Given the description of an element on the screen output the (x, y) to click on. 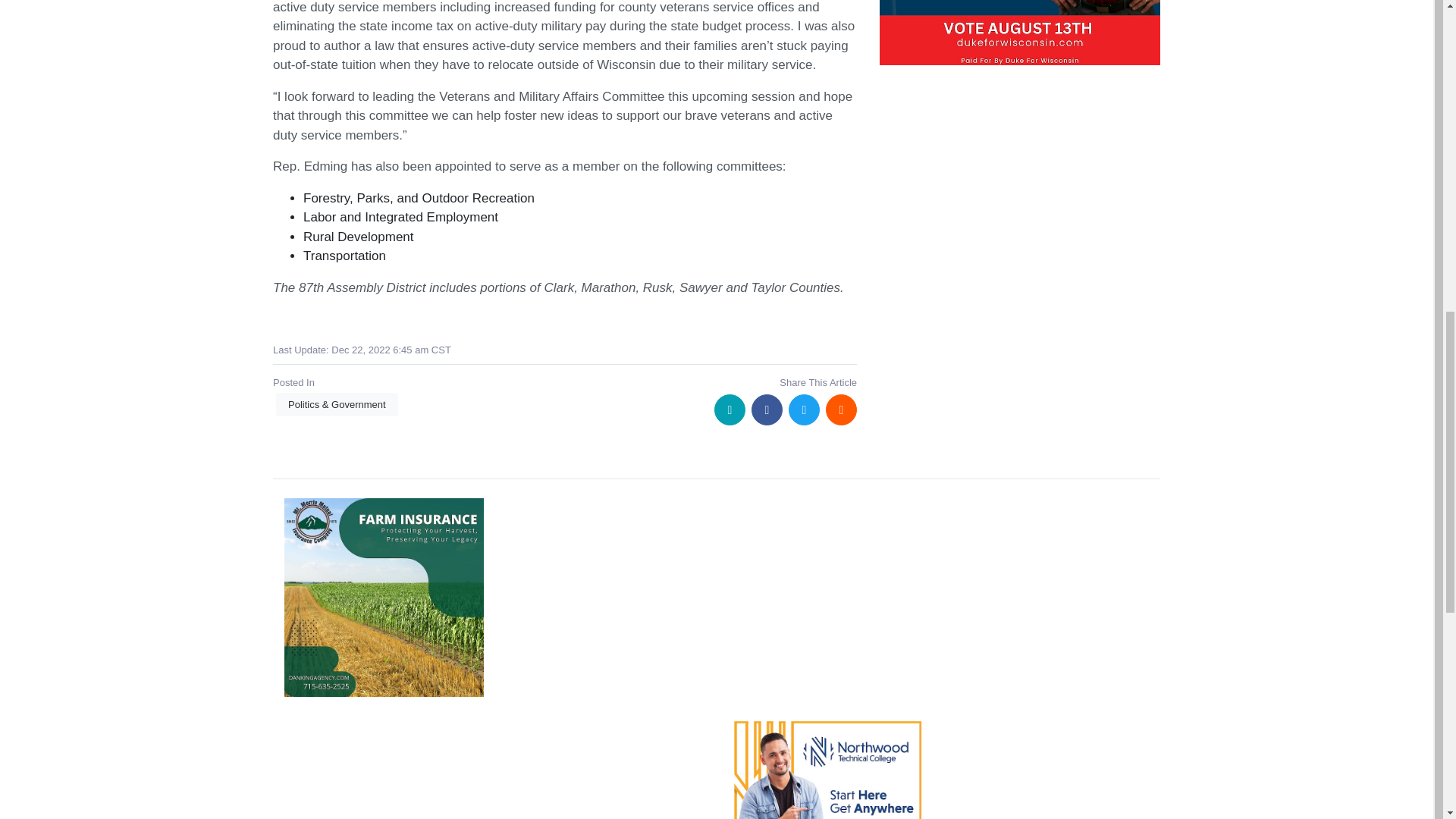
Your Local Insurance Company (383, 597)
facebook (767, 409)
email (729, 409)
twitter (804, 409)
Vote For Duke On August 13th! (1019, 32)
reddit (841, 409)
